Given the description of an element on the screen output the (x, y) to click on. 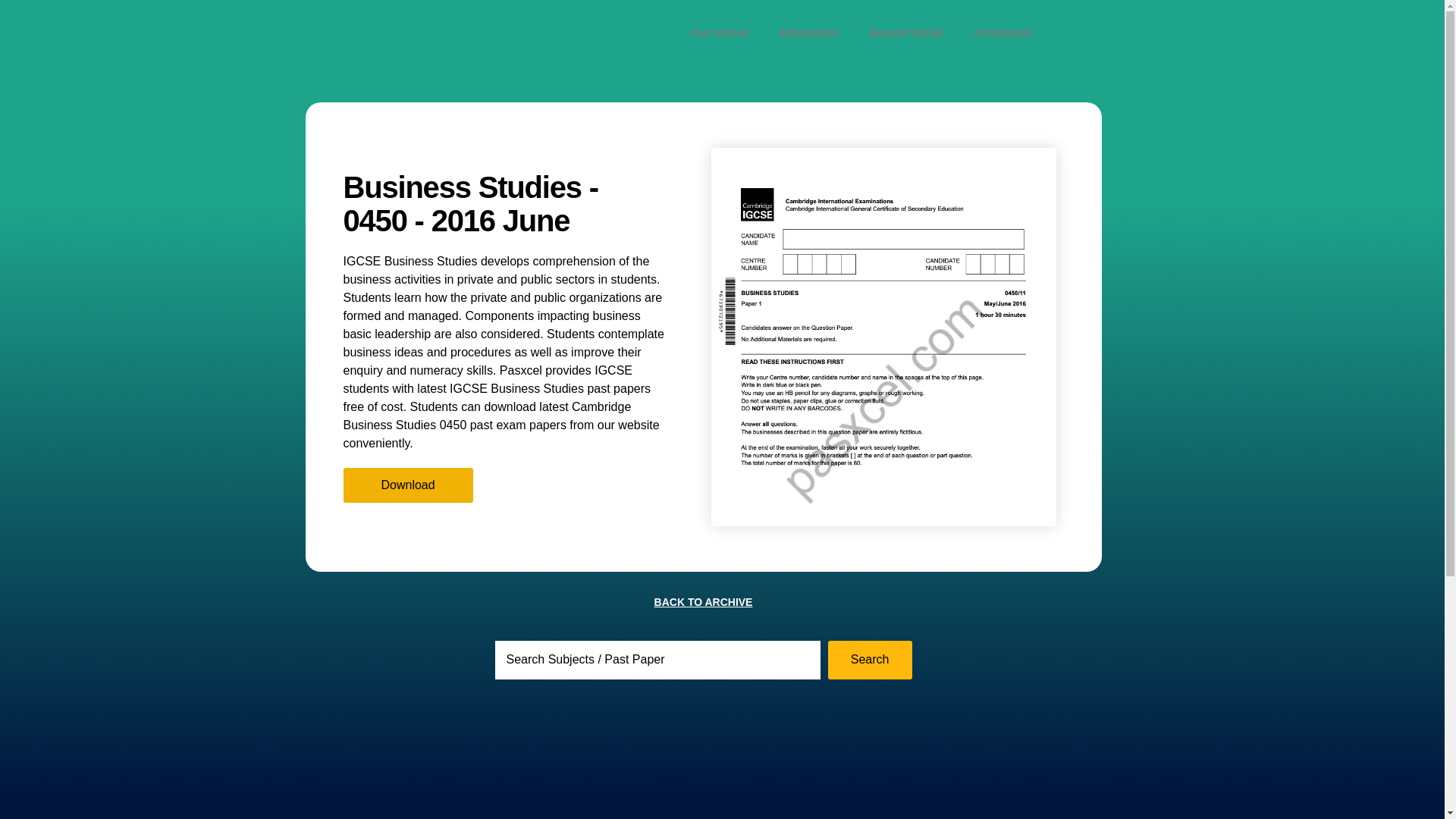
Admissions (807, 32)
Our School (718, 32)
Beyond IGCSE (906, 32)
Community (1003, 32)
